Given the description of an element on the screen output the (x, y) to click on. 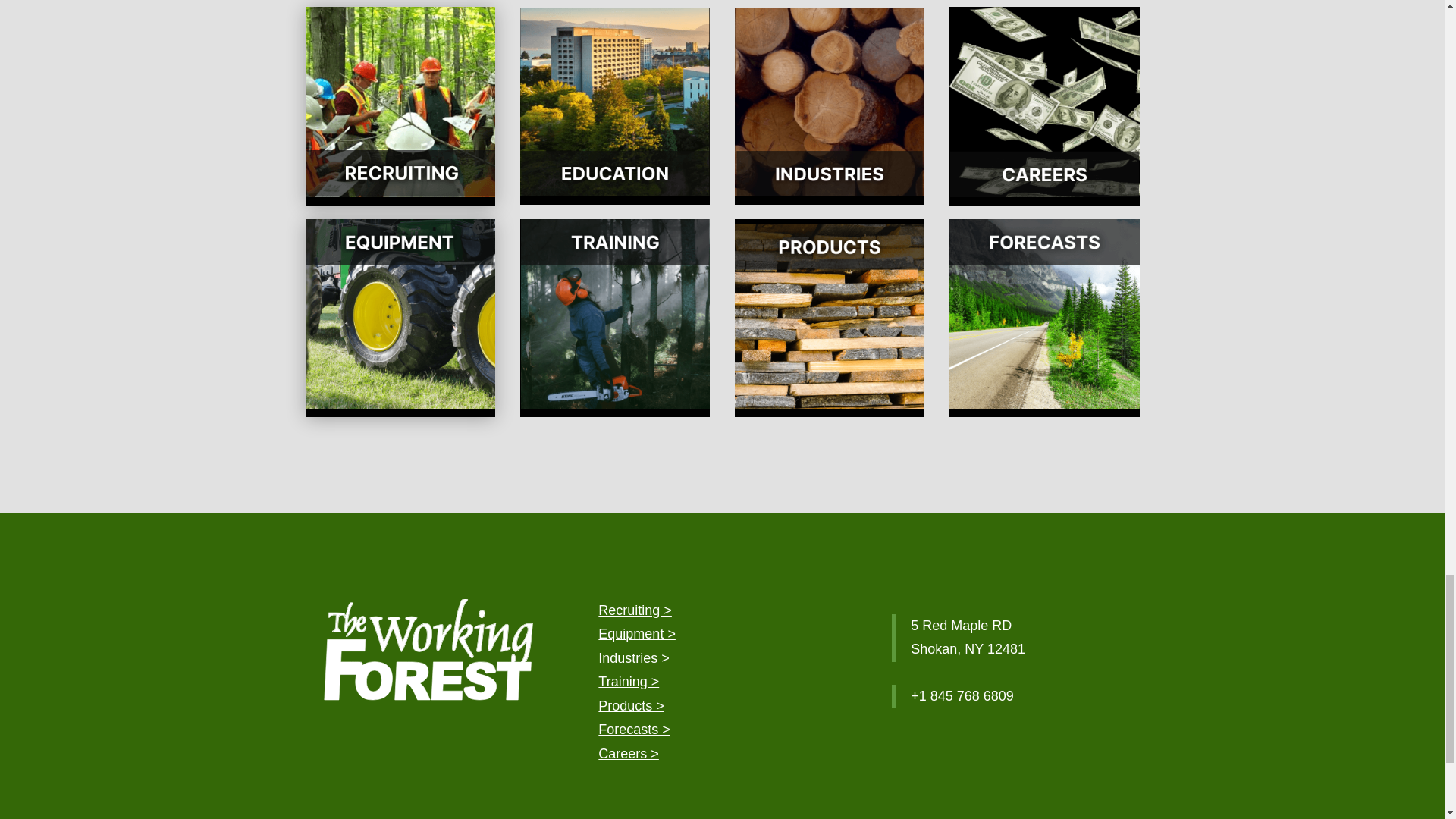
Training Information (628, 681)
Products (630, 705)
Equipment Information (636, 633)
Recruiting Information (634, 610)
Career Information (628, 753)
Industries (633, 657)
Forcasts (633, 729)
